Given the description of an element on the screen output the (x, y) to click on. 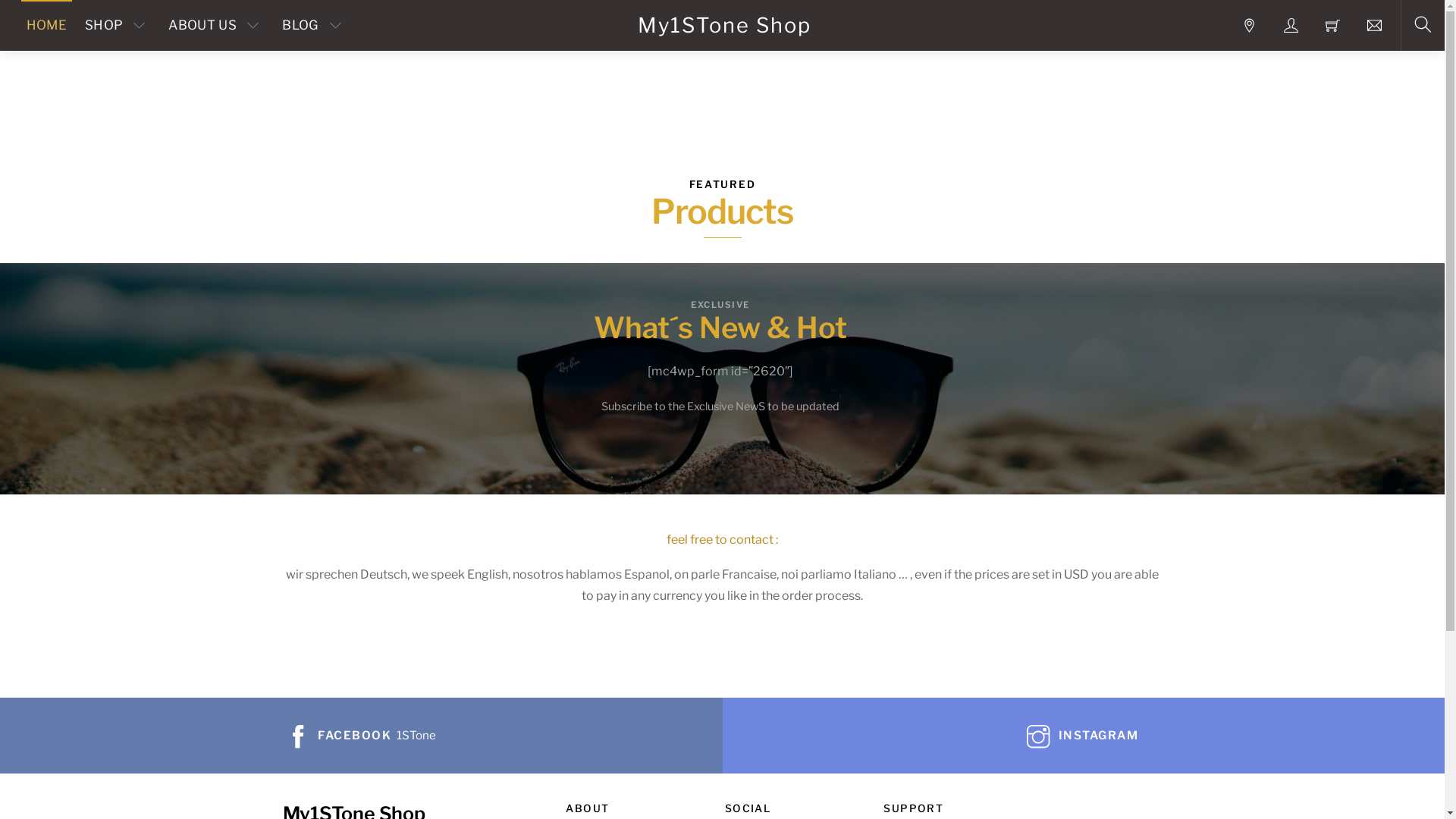
FACEBOOK 1STone Element type: text (361, 735)
INSTAGRAM Element type: text (1082, 735)
feel free to contact : Element type: text (722, 539)
My1STone Shop Element type: text (724, 24)
